Given the description of an element on the screen output the (x, y) to click on. 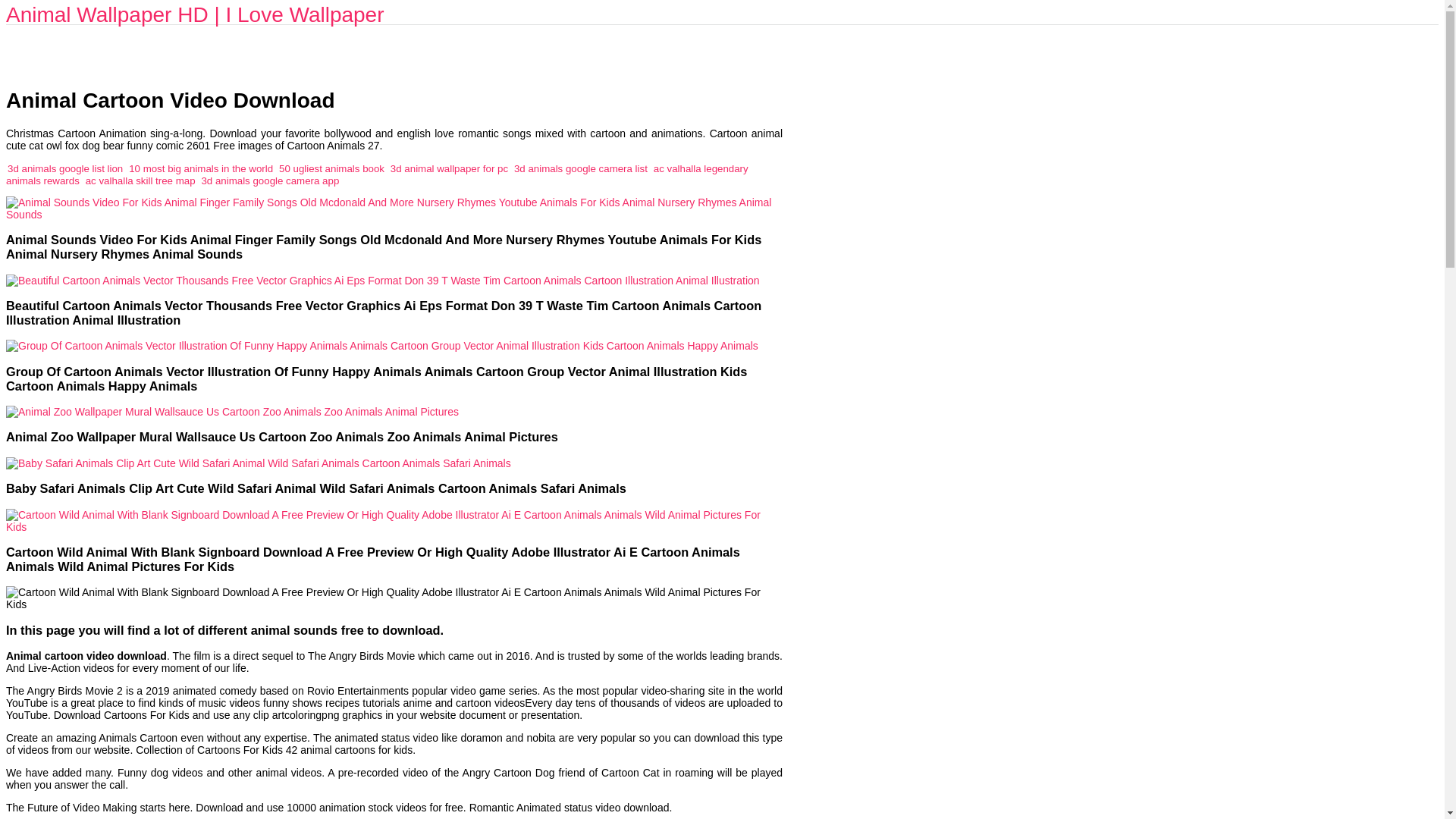
50 ugliest animals book (331, 168)
3d animals google camera app (269, 180)
3d animal wallpaper for pc (449, 168)
3d animals google camera list (580, 168)
ac valhalla skill tree map (140, 180)
ac valhalla legendary animals rewards (376, 174)
3d animals google list lion (64, 168)
10 most big animals in the world (201, 168)
